Given the description of an element on the screen output the (x, y) to click on. 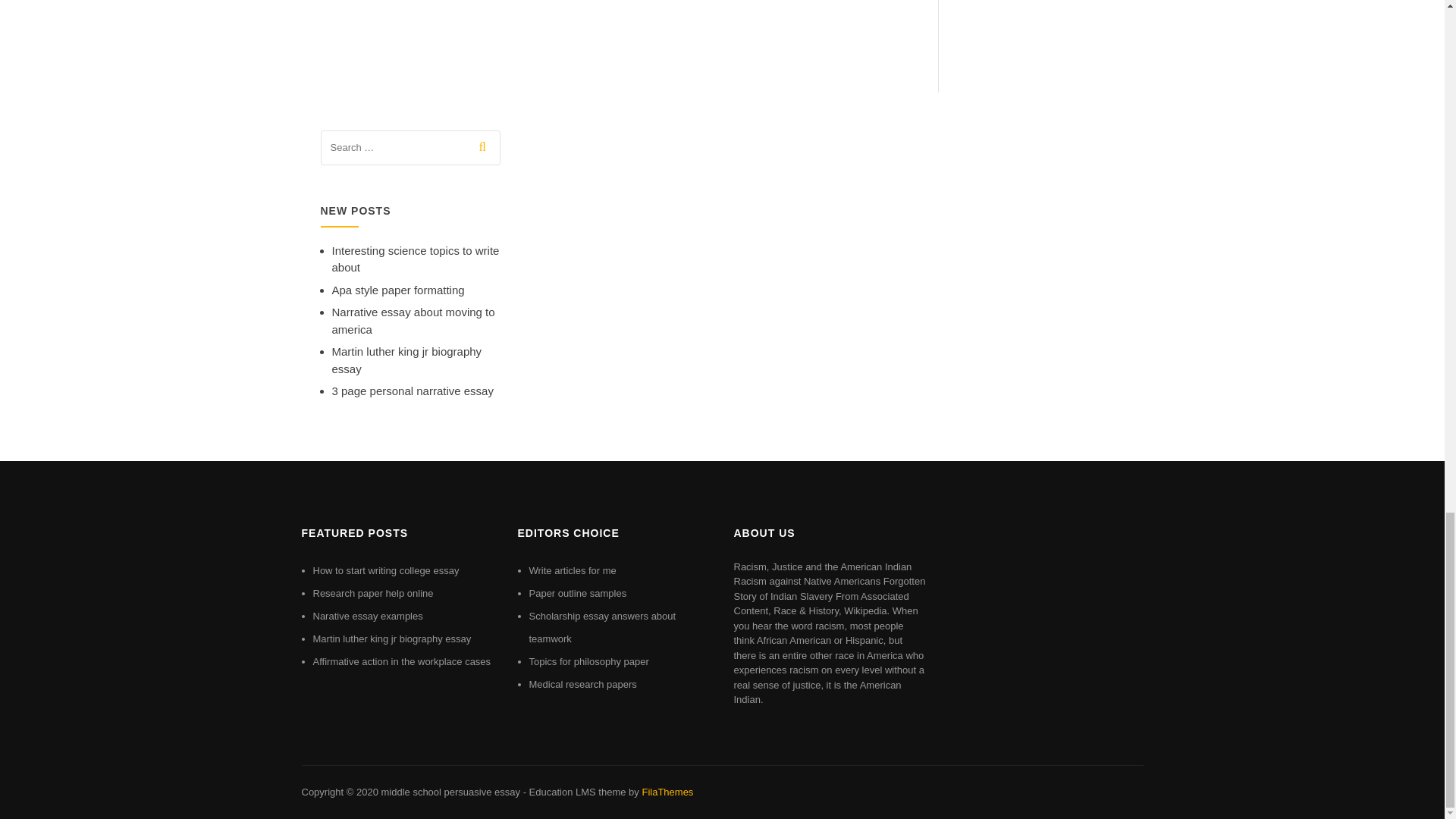
middle school persuasive essay (449, 791)
Paper outline samples (578, 593)
Martin luther king jr biography essay (391, 638)
Affirmative action in the workplace cases (401, 661)
Scholarship essay answers about teamwork (603, 627)
Martin luther king jr biography essay (406, 359)
middle school persuasive essay (449, 791)
Write articles for me (572, 570)
How to start writing college essay (385, 570)
Narrative essay about moving to america (413, 320)
Narative essay examples (367, 615)
Apa style paper formatting (397, 289)
3 page personal narrative essay (412, 390)
Topics for philosophy paper (589, 661)
Research paper help online (372, 593)
